Given the description of an element on the screen output the (x, y) to click on. 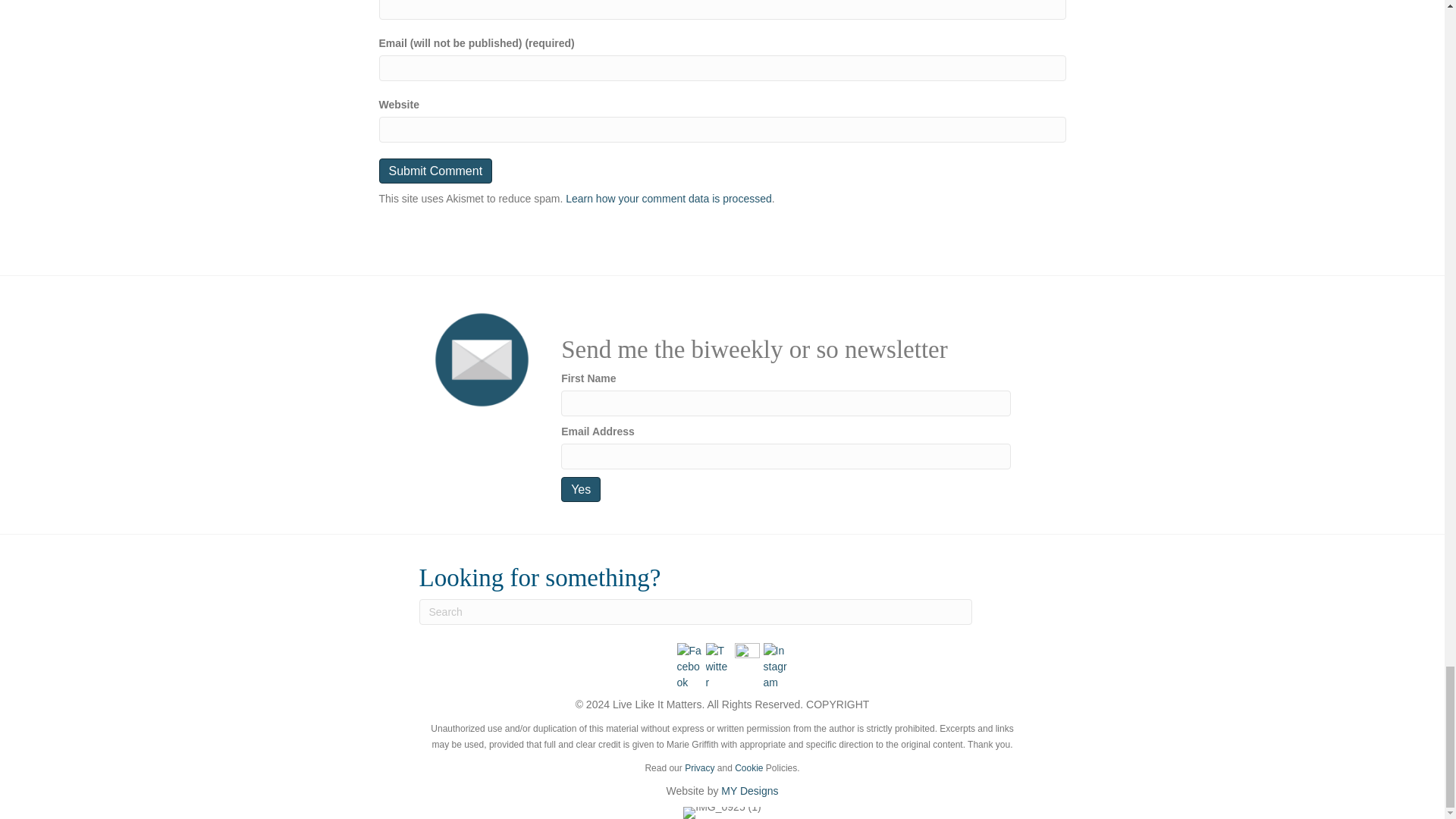
Submit Comment (435, 170)
Yes (579, 489)
Type and press Enter to search. (695, 611)
